Given the description of an element on the screen output the (x, y) to click on. 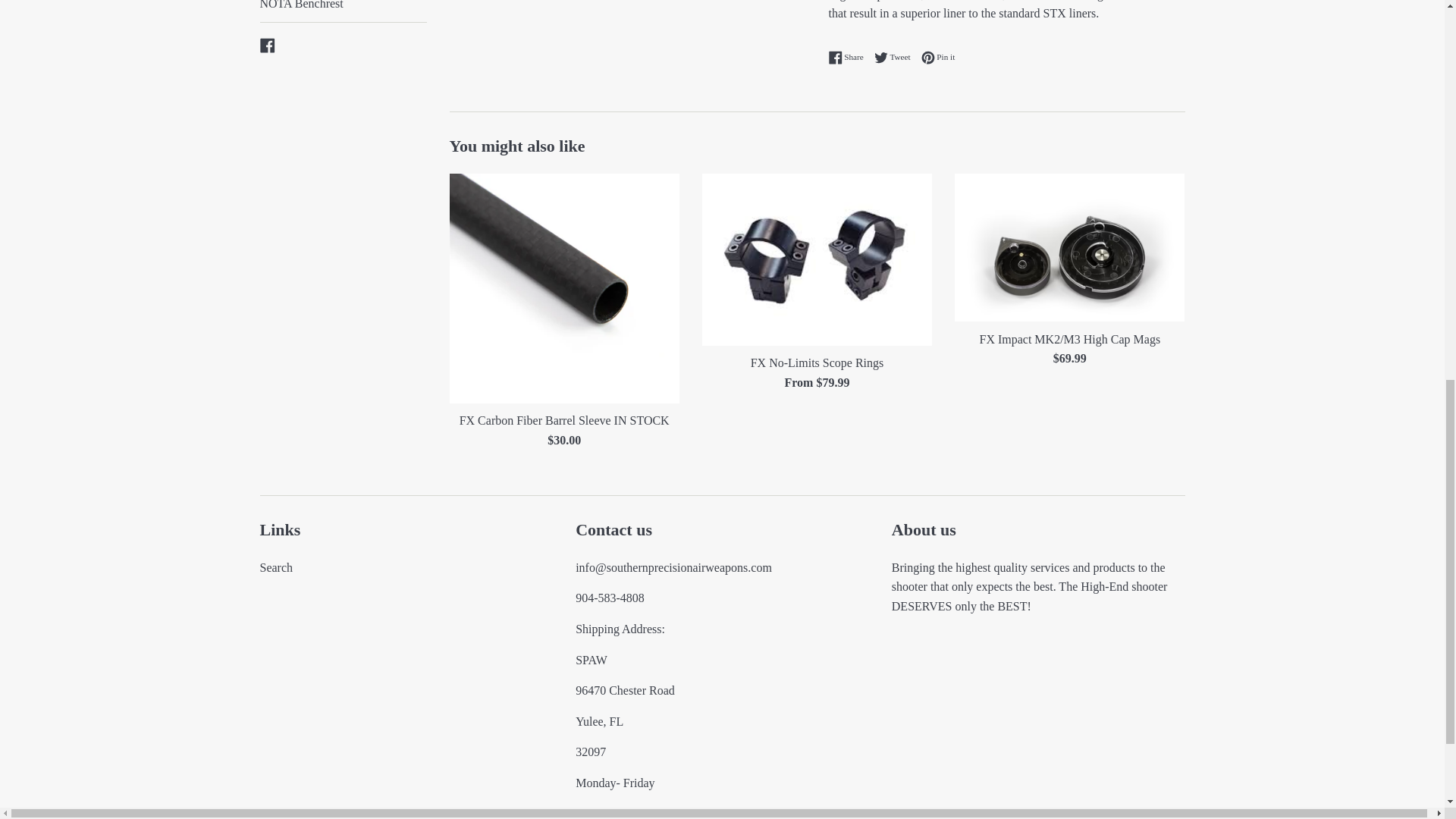
Pin on Pinterest (938, 57)
Share on Facebook (849, 57)
Tweet on Twitter (896, 57)
Southern Precision Air Weapons LLC. on Facebook (267, 43)
FX Carbon Fiber Barrel Sleeve IN STOCK (563, 288)
FX No-Limits Scope Rings (816, 259)
